Given the description of an element on the screen output the (x, y) to click on. 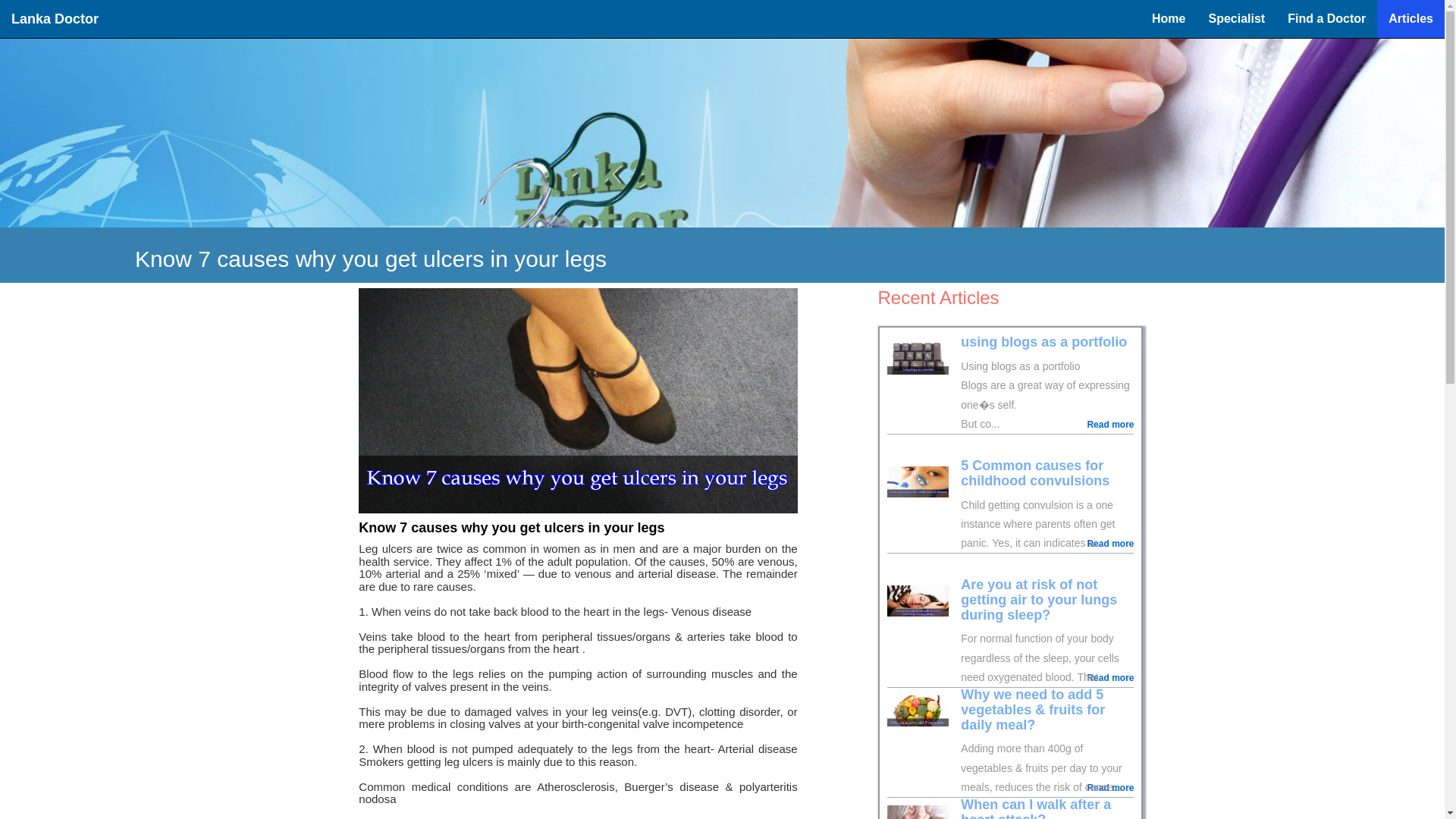
Lanka Doctor (55, 18)
Home (1168, 18)
Read more (1110, 788)
Read more (1110, 543)
Specialist (1236, 18)
5 Common causes for childhood convulsions (1034, 472)
Find a Doctor (1326, 18)
Read more (1110, 677)
Read more (1110, 424)
using blogs as a portfolio (1043, 341)
When can I walk after a heart attack? (1035, 807)
